Given the description of an element on the screen output the (x, y) to click on. 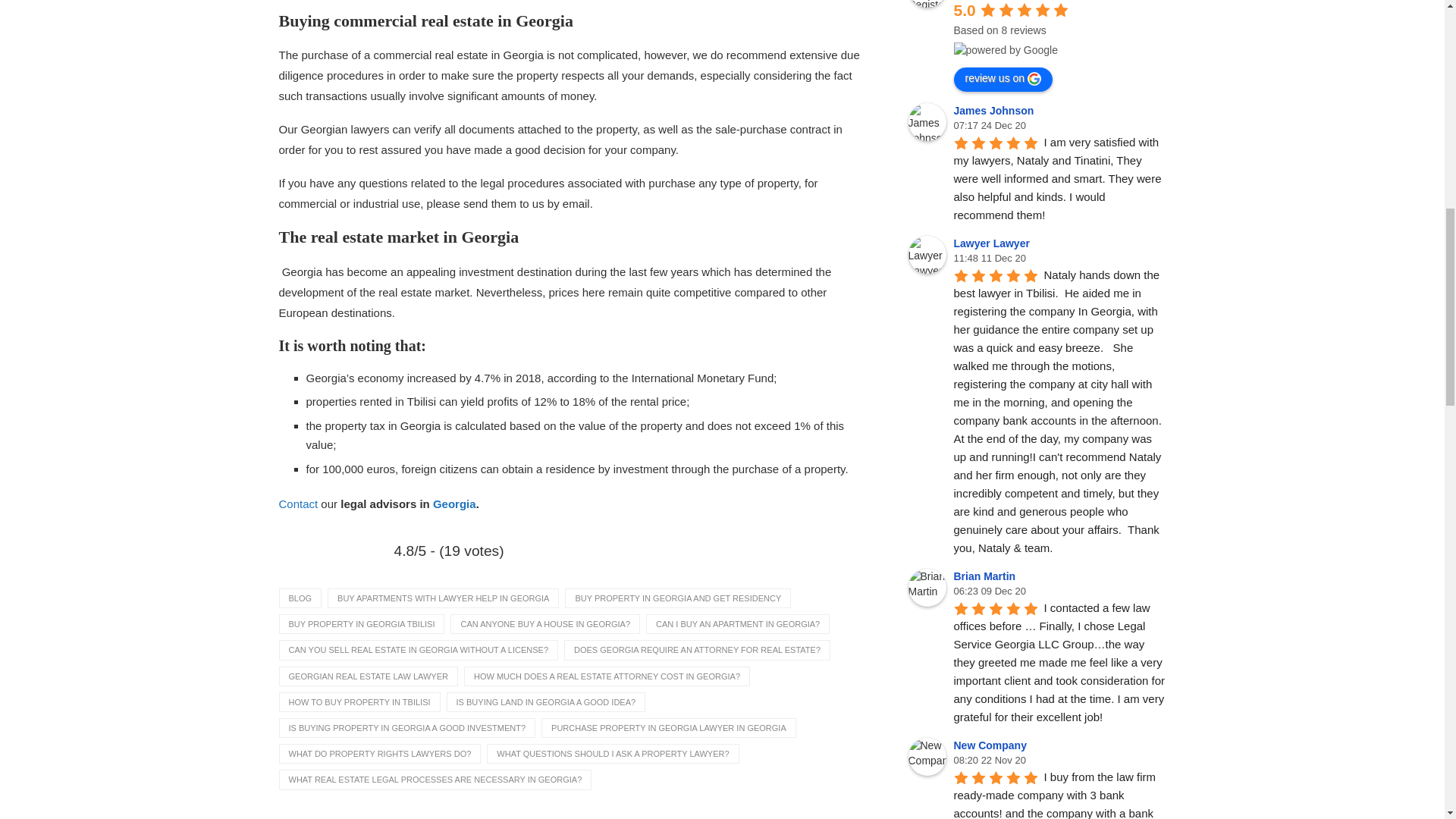
Business Register In Georgia Company Formation in Georgia (927, 3)
Contact (298, 503)
